Given the description of an element on the screen output the (x, y) to click on. 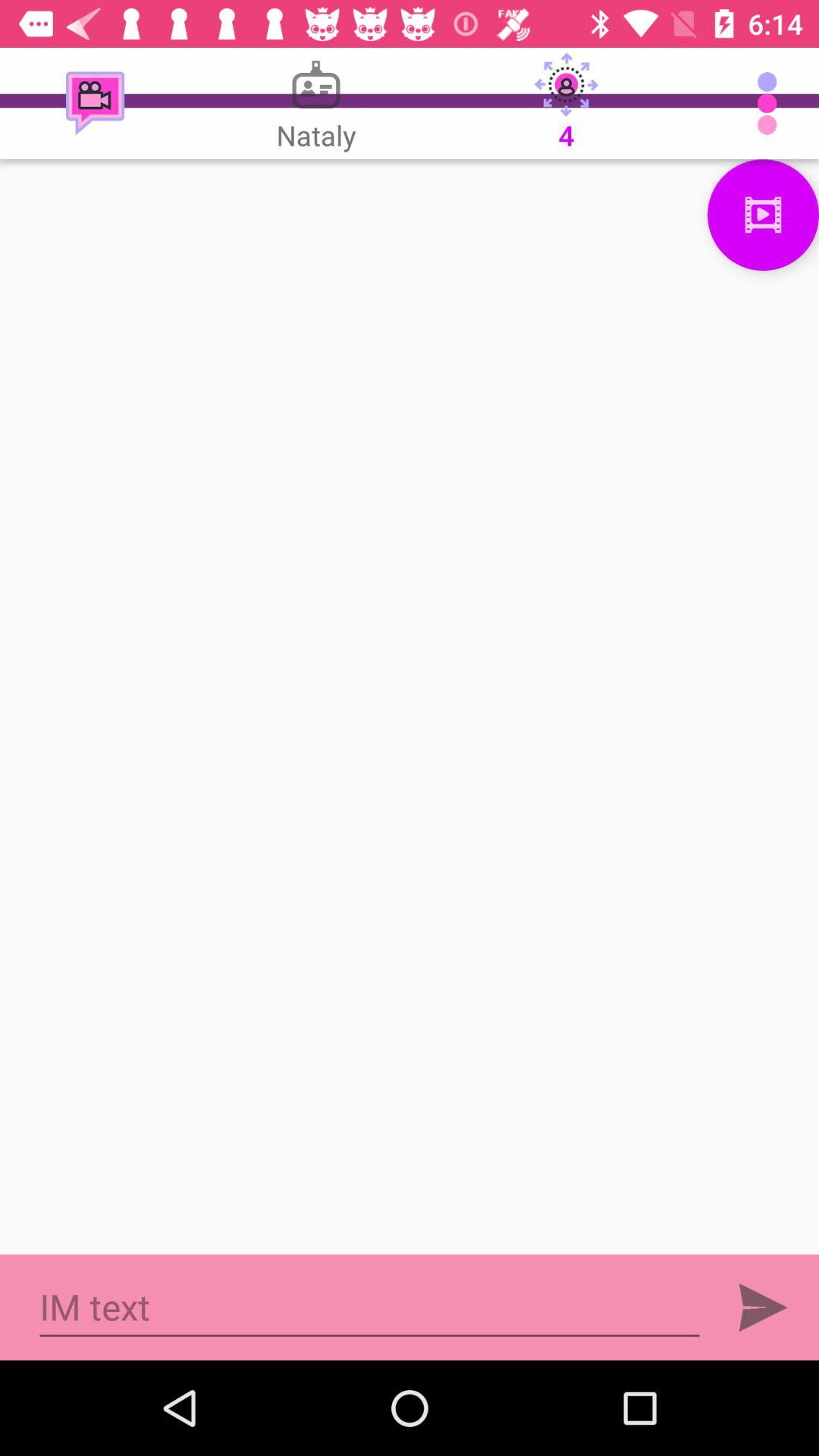
telegram (763, 1307)
